Given the description of an element on the screen output the (x, y) to click on. 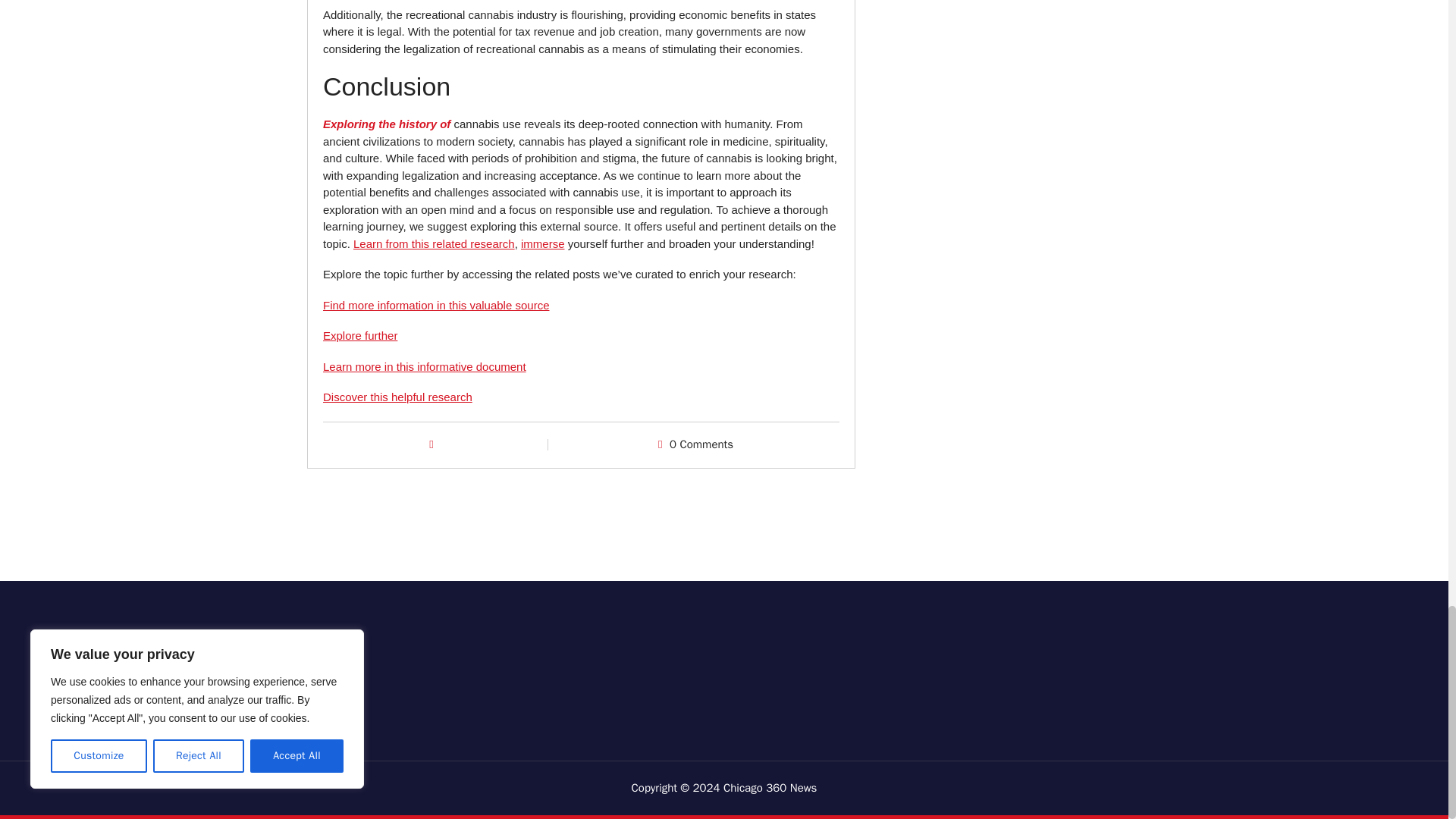
Explore further (360, 335)
Learn from this related research (434, 243)
immerse (542, 243)
Find more information in this valuable source (435, 305)
